Given the description of an element on the screen output the (x, y) to click on. 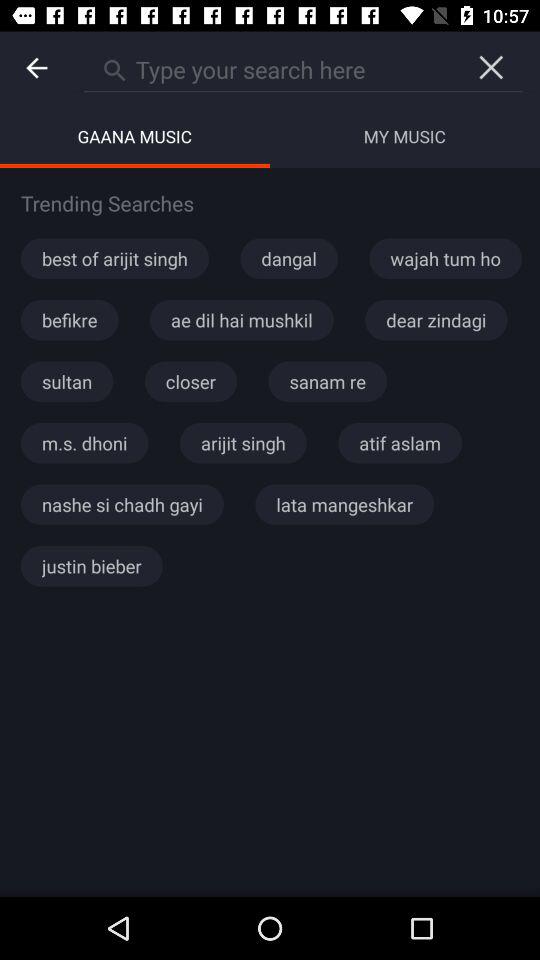
select the text which is present to the right of dangal (445, 259)
click sultan (66, 381)
select closer (191, 381)
click the close icon below the navigation bar (491, 67)
select the text which is present above the sultan (69, 319)
